Given the description of an element on the screen output the (x, y) to click on. 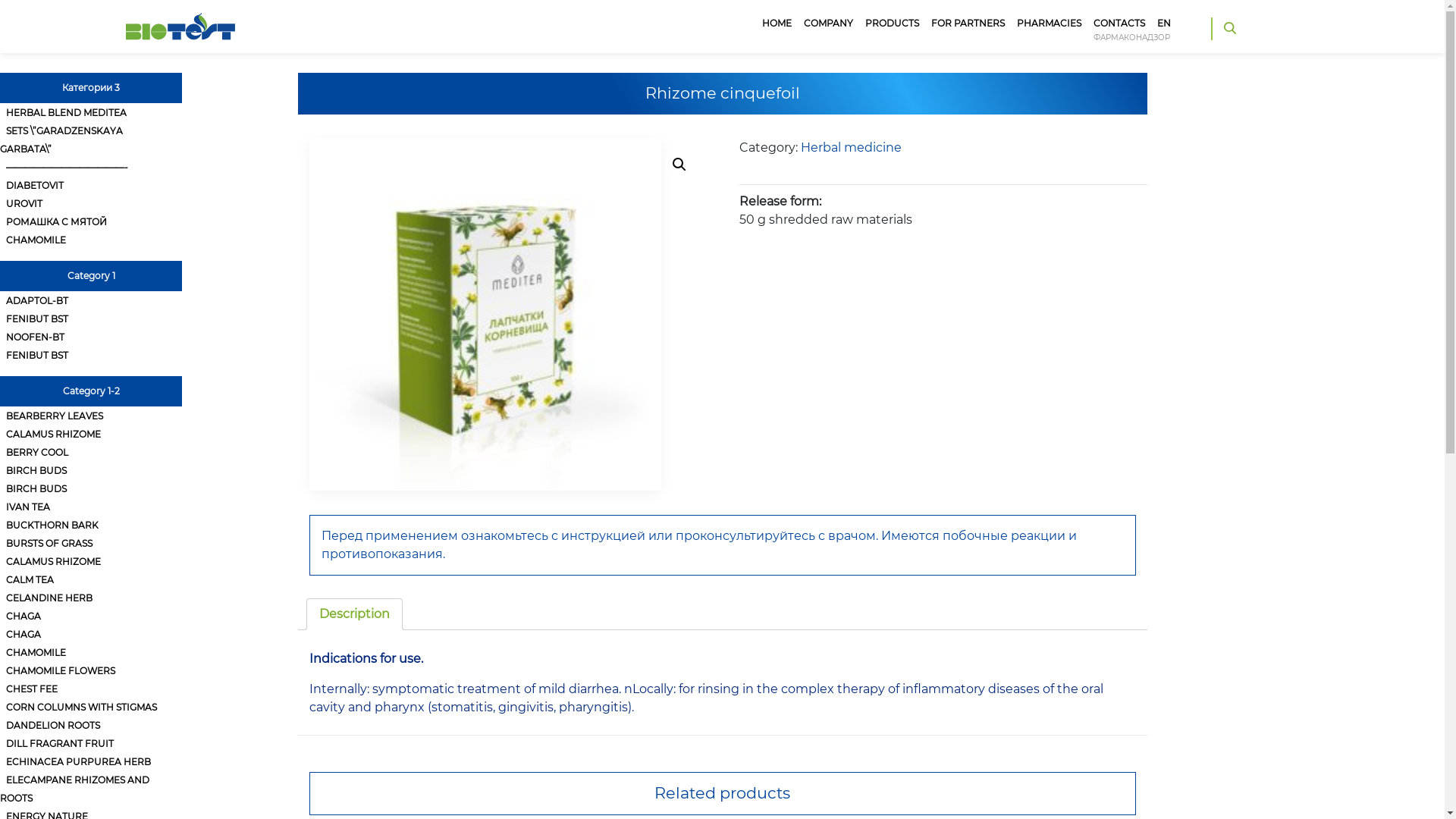
DIABETOVIT Element type: text (34, 185)
ECHINACEA PURPUREA HERB Element type: text (78, 761)
UROVIT Element type: text (24, 203)
CORN COLUMNS WITH STIGMAS Element type: text (81, 706)
CHAMOMILE Element type: text (36, 652)
Herbal medicine Element type: text (850, 147)
PRODUCTS Element type: text (892, 23)
CHAMOMILE FLOWERS Element type: text (60, 670)
BIRCH BUDS Element type: text (36, 488)
HERBAL BLEND MEDITEA Element type: text (66, 112)
BURSTS OF GRASS Element type: text (49, 543)
DANDELION ROOTS Element type: text (53, 725)
Description Element type: text (353, 614)
COMPANY Element type: text (828, 23)
CALM TEA Element type: text (29, 579)
CHAGA Element type: text (23, 634)
BIRCH BUDS Element type: text (36, 470)
CHAGA Element type: text (23, 615)
Lapchatki-kornevischa Element type: hover (485, 314)
EN Element type: text (1163, 23)
FENIBUT BST Element type: text (37, 318)
Biotest Element type: hover (180, 13)
CHEST FEE Element type: text (31, 688)
CONTACTS Element type: text (1119, 23)
BUCKTHORN BARK Element type: text (52, 524)
ADAPTOL-BT Element type: text (37, 300)
IVAN TEA Element type: text (28, 506)
CALAMUS RHIZOME Element type: text (53, 561)
PHARMACIES Element type: text (1048, 23)
Find Element type: text (1222, 98)
BEARBERRY LEAVES Element type: text (54, 415)
ELECAMPANE RHIZOMES AND ROOTS Element type: text (74, 788)
FENIBUT BST Element type: text (37, 355)
BERRY COOL Element type: text (37, 452)
CALAMUS RHIZOME Element type: text (53, 433)
CHAMOMILE Element type: text (36, 239)
FOR PARTNERS Element type: text (967, 23)
DILL FRAGRANT FRUIT Element type: text (59, 743)
NOOFEN-BT Element type: text (35, 336)
CELANDINE HERB Element type: text (49, 597)
HOME Element type: text (776, 23)
